Given the description of an element on the screen output the (x, y) to click on. 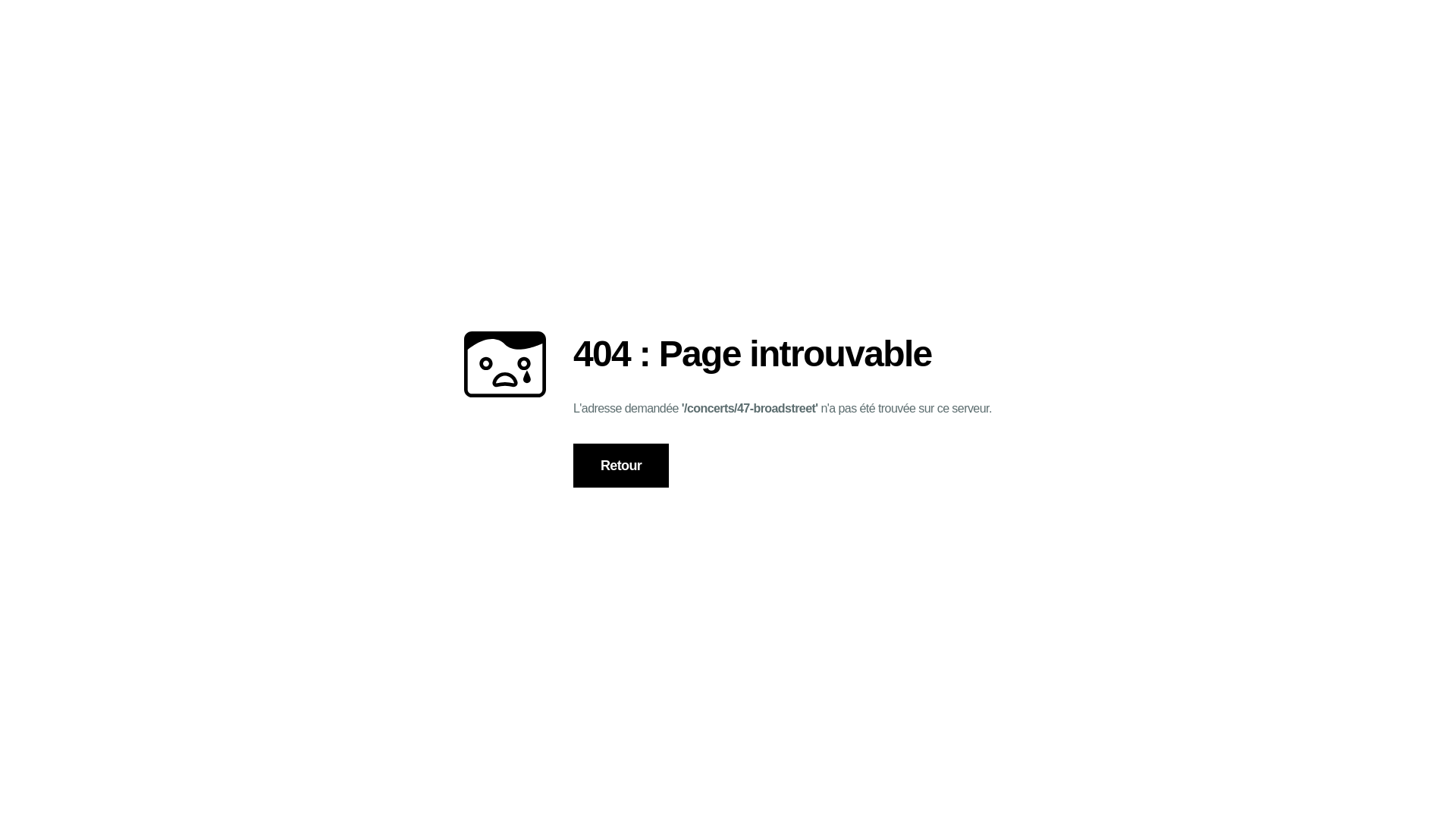
Retour Element type: text (620, 465)
